Given the description of an element on the screen output the (x, y) to click on. 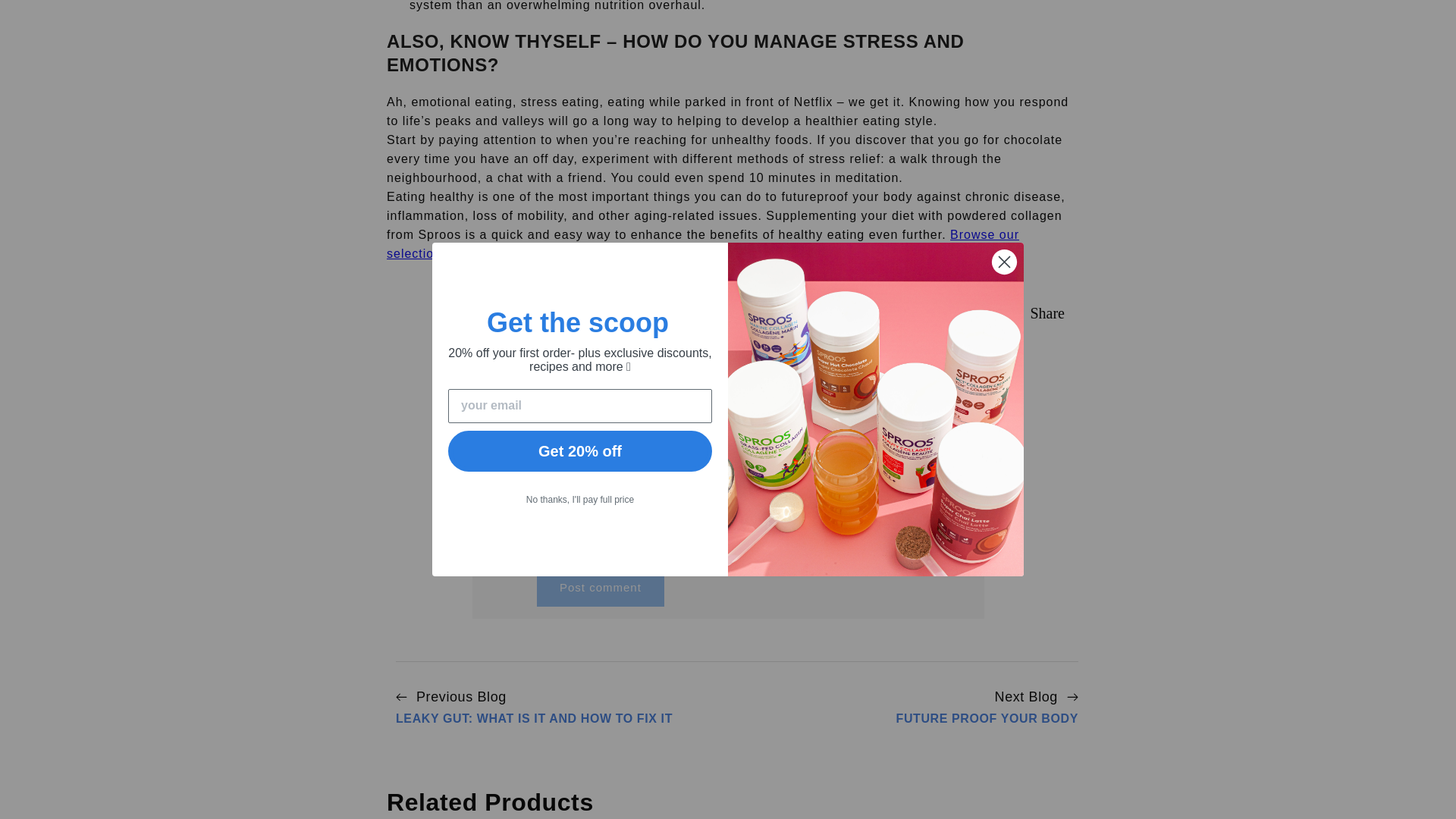
Post comment (600, 587)
